Given the description of an element on the screen output the (x, y) to click on. 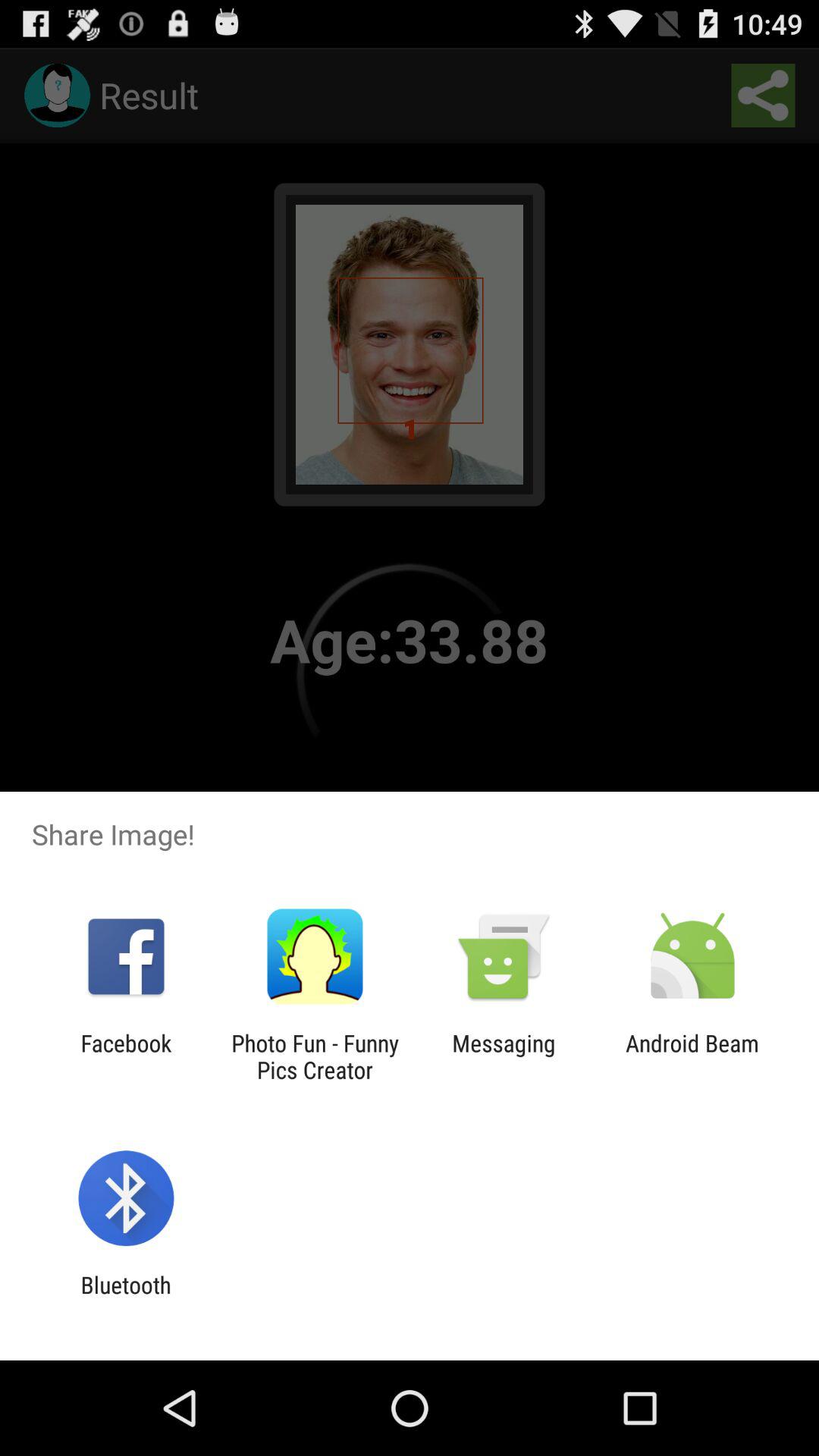
turn on icon next to the facebook icon (314, 1056)
